Given the description of an element on the screen output the (x, y) to click on. 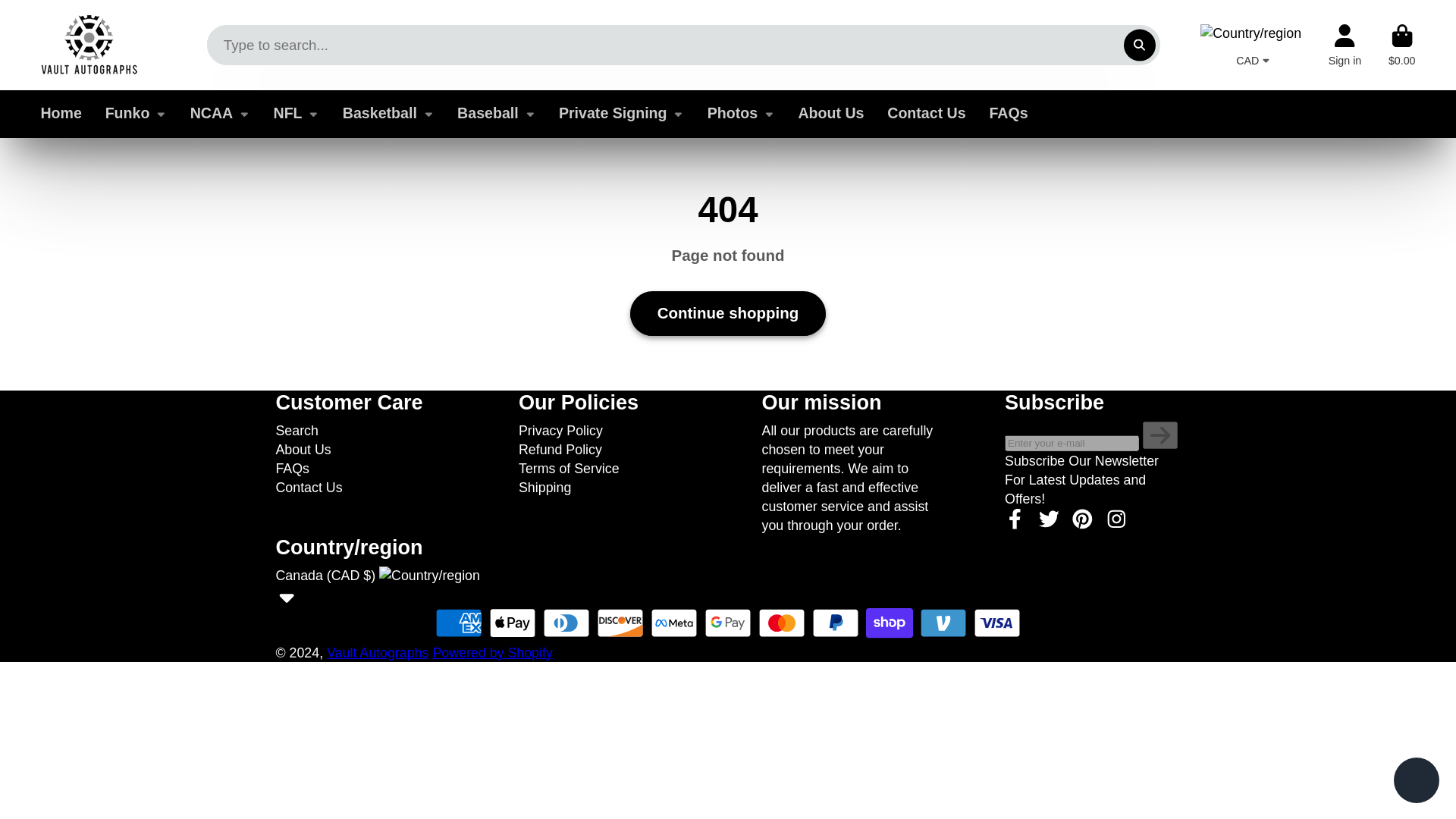
American Express (458, 623)
Apple Pay (512, 623)
Baseball (496, 114)
Photos (740, 114)
NFL (295, 114)
NCAA (220, 114)
Logo (89, 45)
Basketball (387, 114)
Private Signing (621, 114)
Diners Club (566, 623)
